Given the description of an element on the screen output the (x, y) to click on. 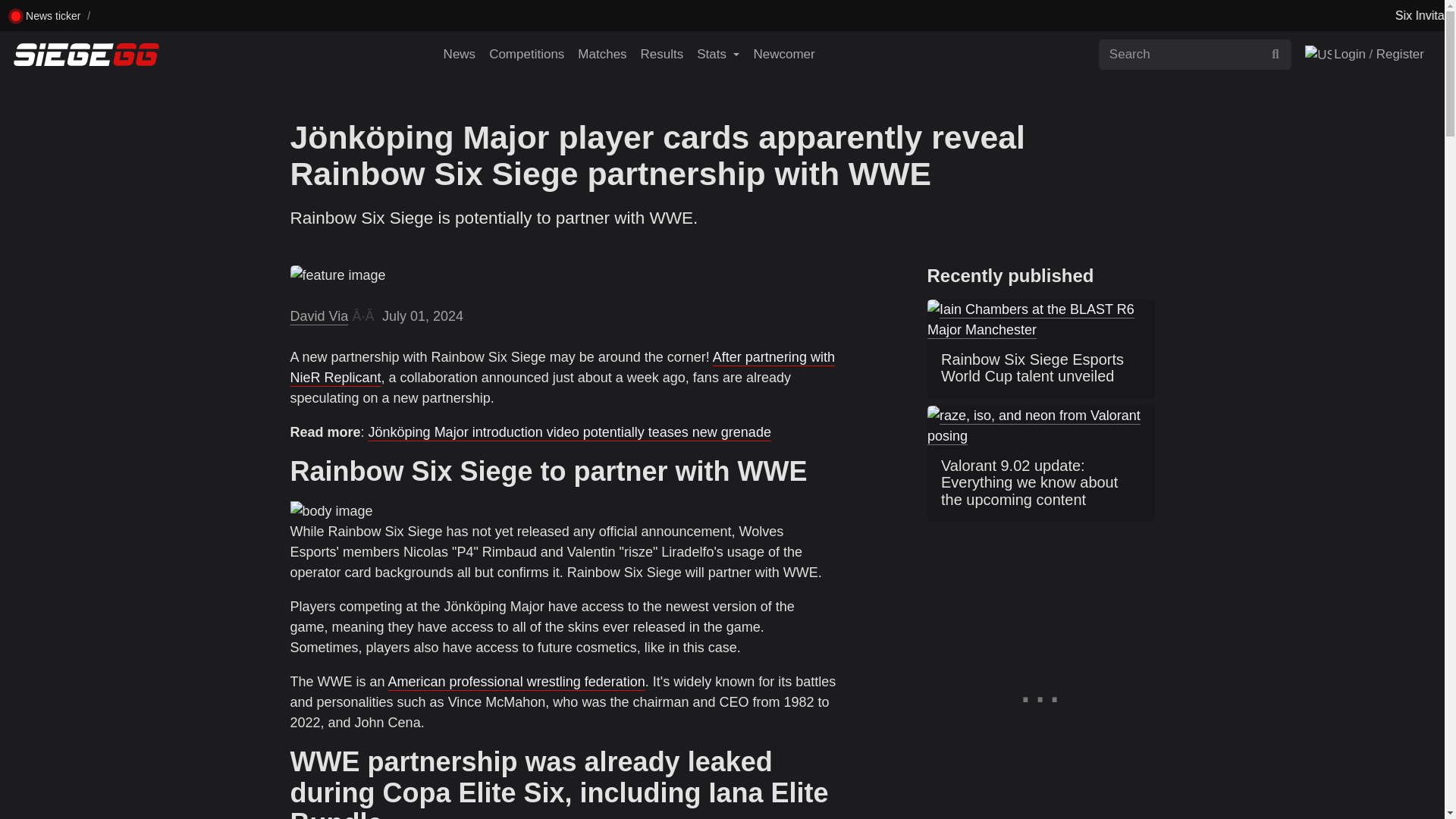
Results (661, 54)
Login (1347, 54)
David Via (318, 315)
USA (1318, 55)
Matches (601, 54)
After partnering with NieR Replicant (561, 366)
Register (1402, 54)
Newcomer (783, 54)
Stats  (717, 54)
Competitions (525, 54)
American professional wrestling federation (516, 681)
News (459, 54)
